Given the description of an element on the screen output the (x, y) to click on. 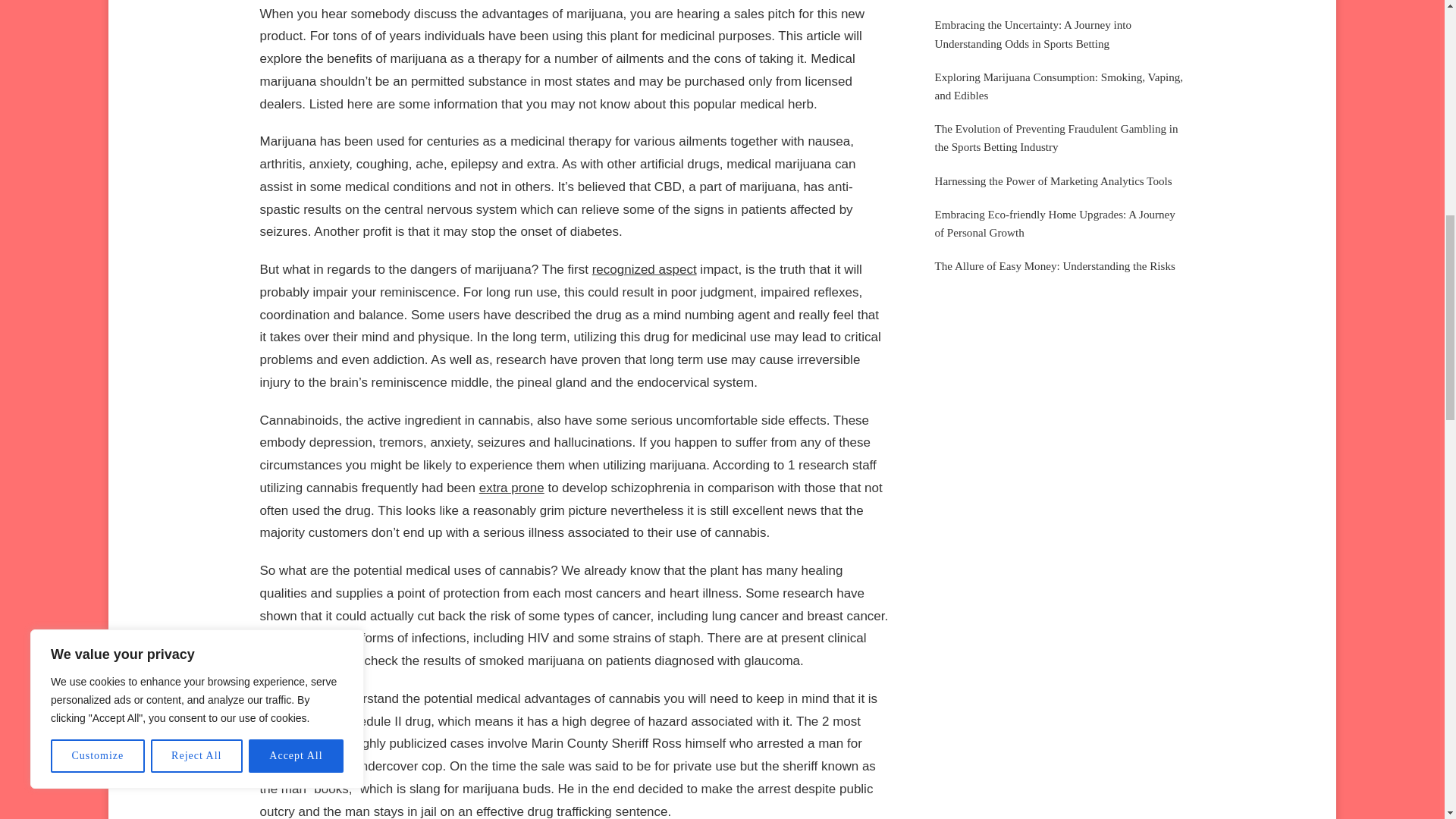
recognized aspect (644, 269)
extra prone (511, 487)
